Given the description of an element on the screen output the (x, y) to click on. 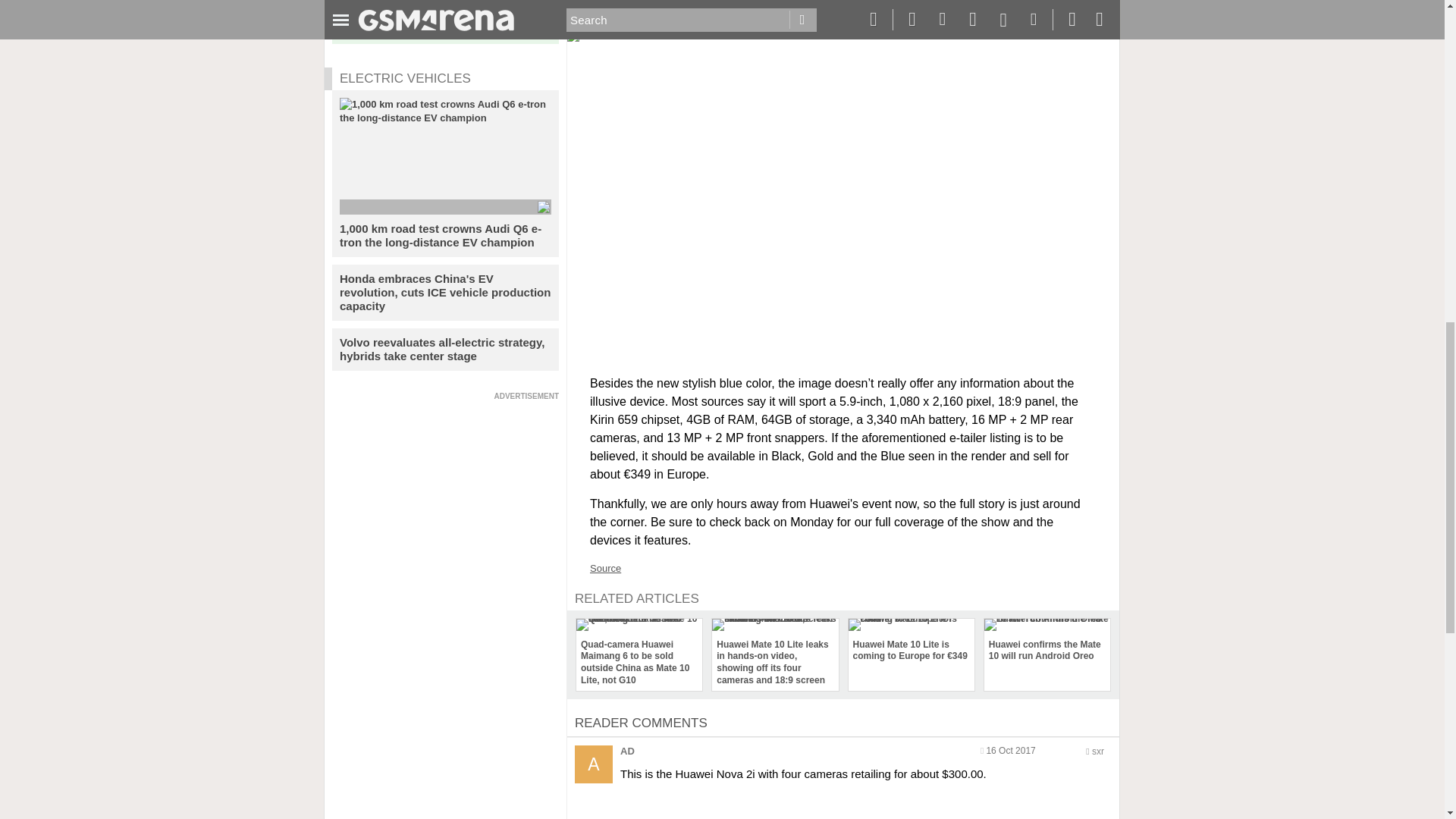
Encoded anonymized location (1097, 751)
